Given the description of an element on the screen output the (x, y) to click on. 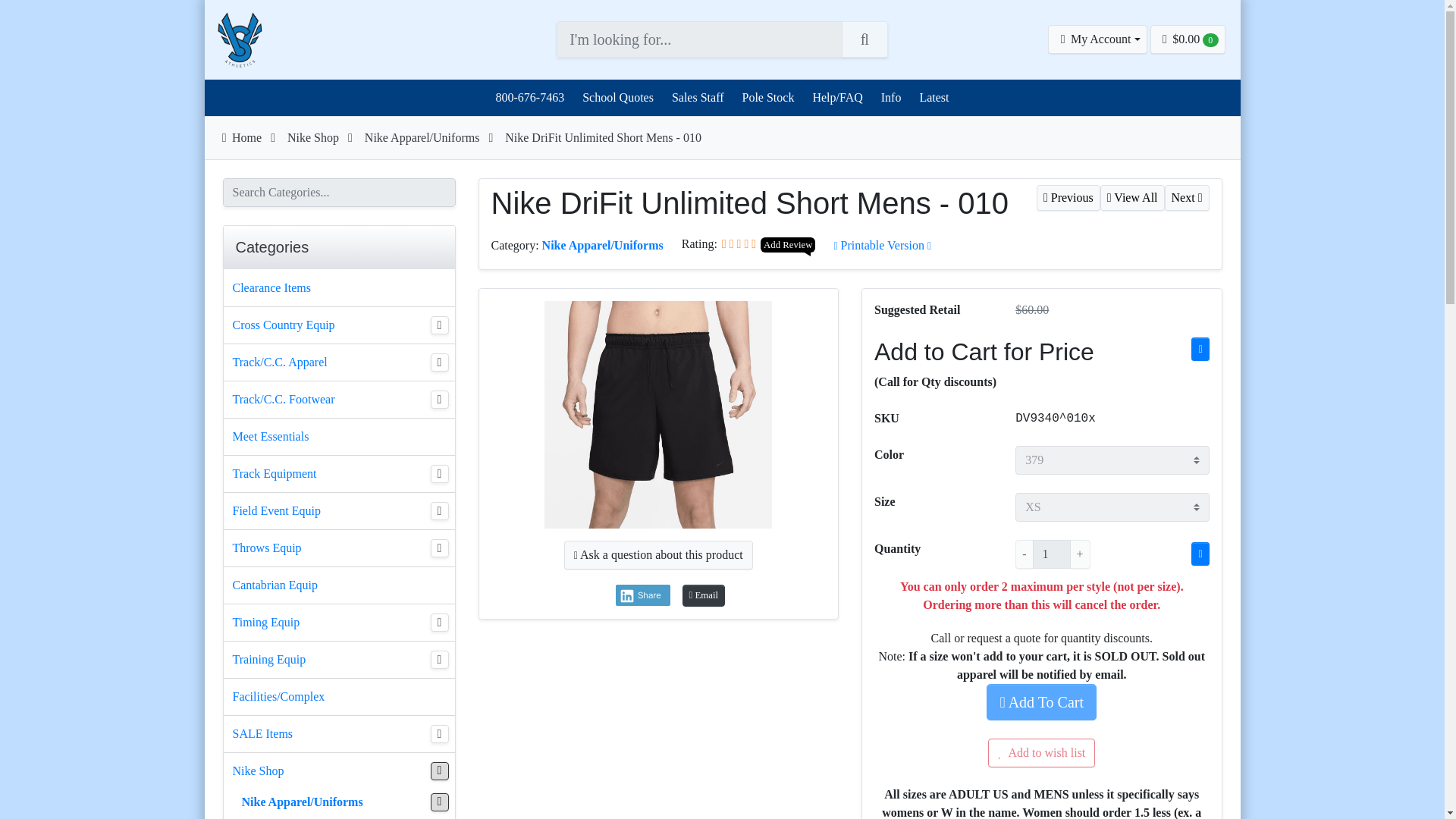
Latest (933, 97)
800-676-7463 (529, 97)
Nike Shop (312, 137)
Add to cart (1041, 701)
Add to wish list (1041, 752)
My Account (1097, 39)
Your Cart (1187, 39)
View All (1131, 197)
1 (1051, 553)
Add Review (787, 245)
Info (891, 97)
Home (239, 137)
School Quotes (617, 97)
Sales Staff (697, 97)
Pole Stock (767, 97)
